Given the description of an element on the screen output the (x, y) to click on. 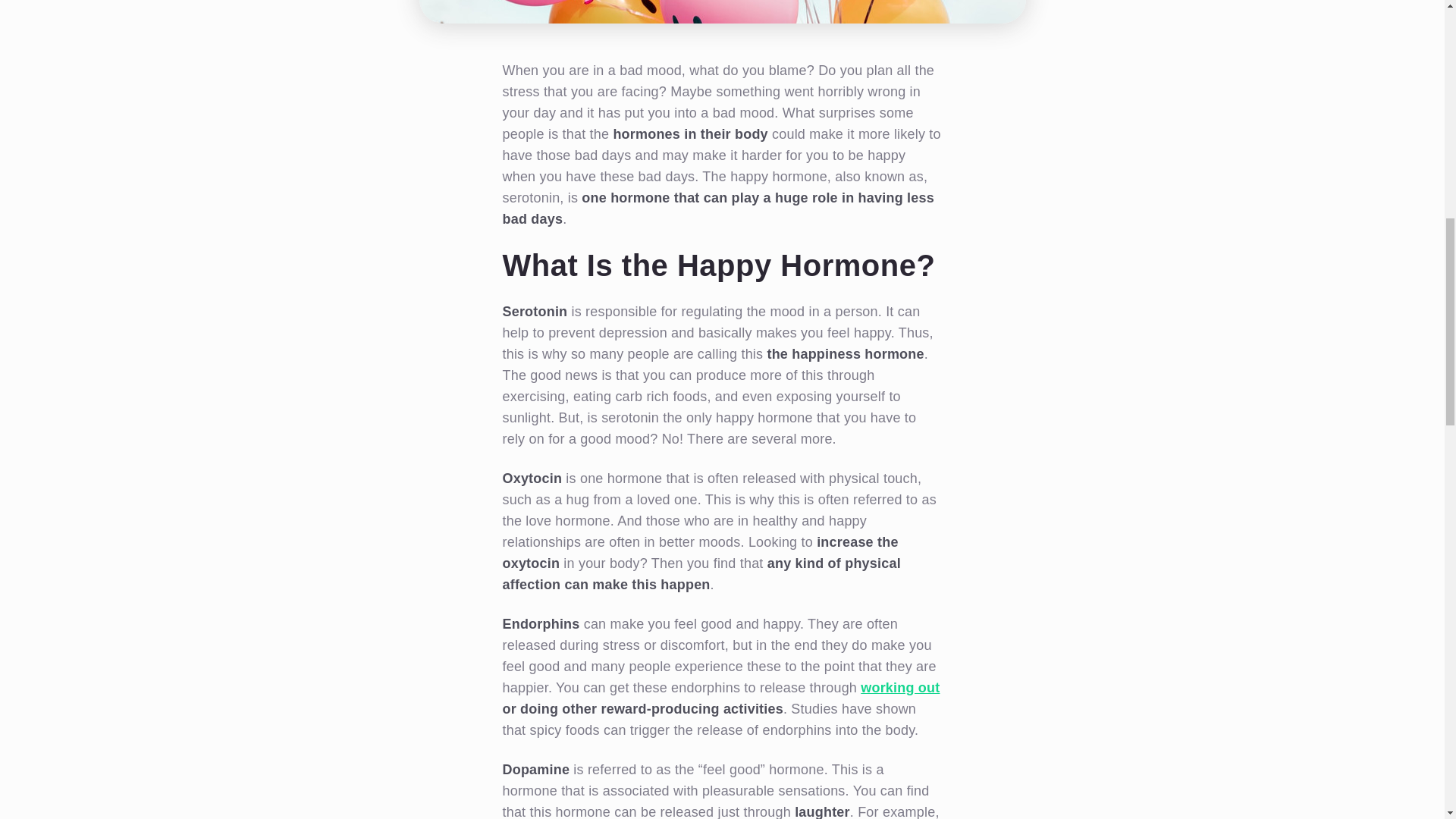
working out (899, 687)
